Given the description of an element on the screen output the (x, y) to click on. 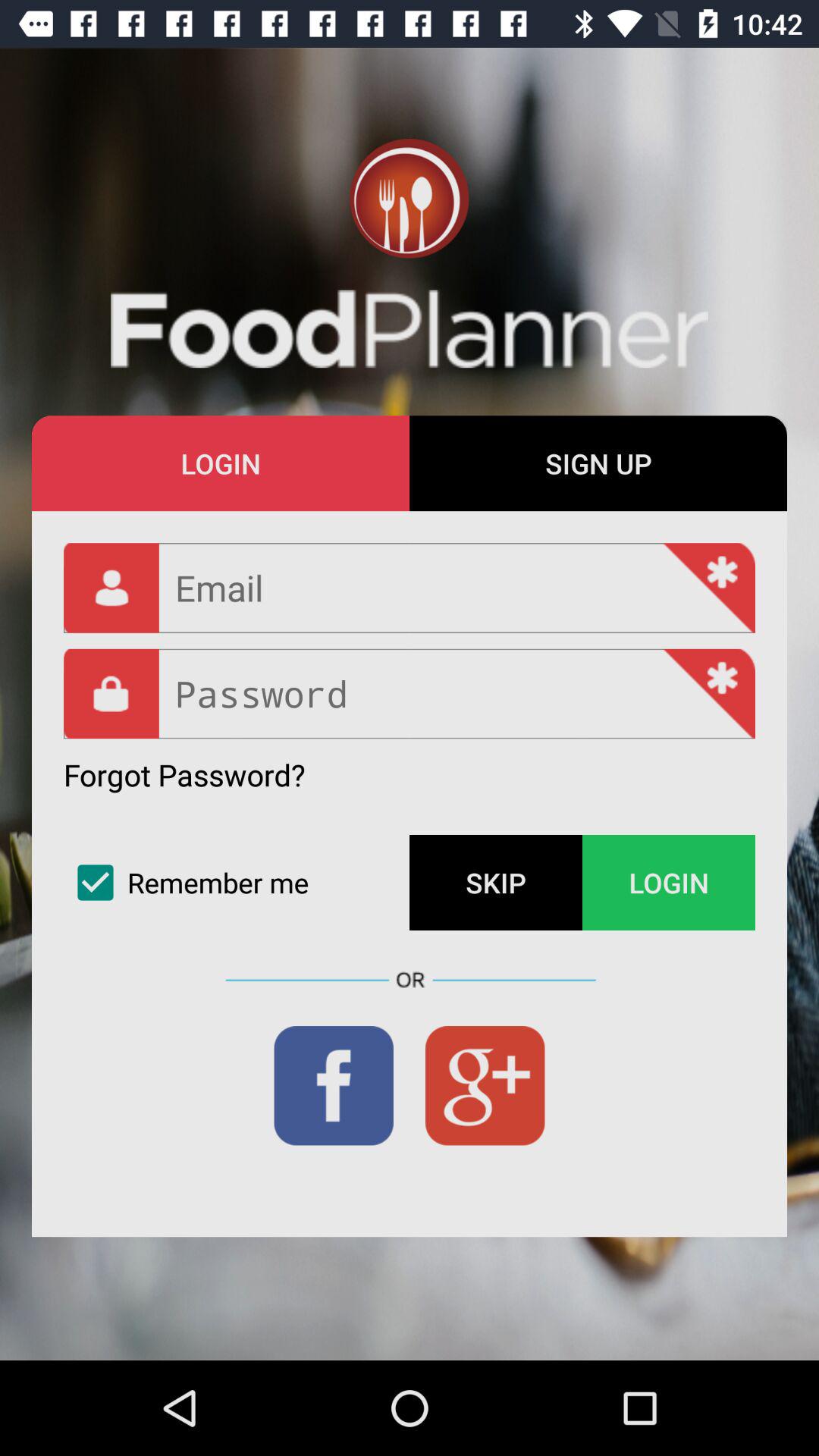
swipe to the skip icon (495, 882)
